Given the description of an element on the screen output the (x, y) to click on. 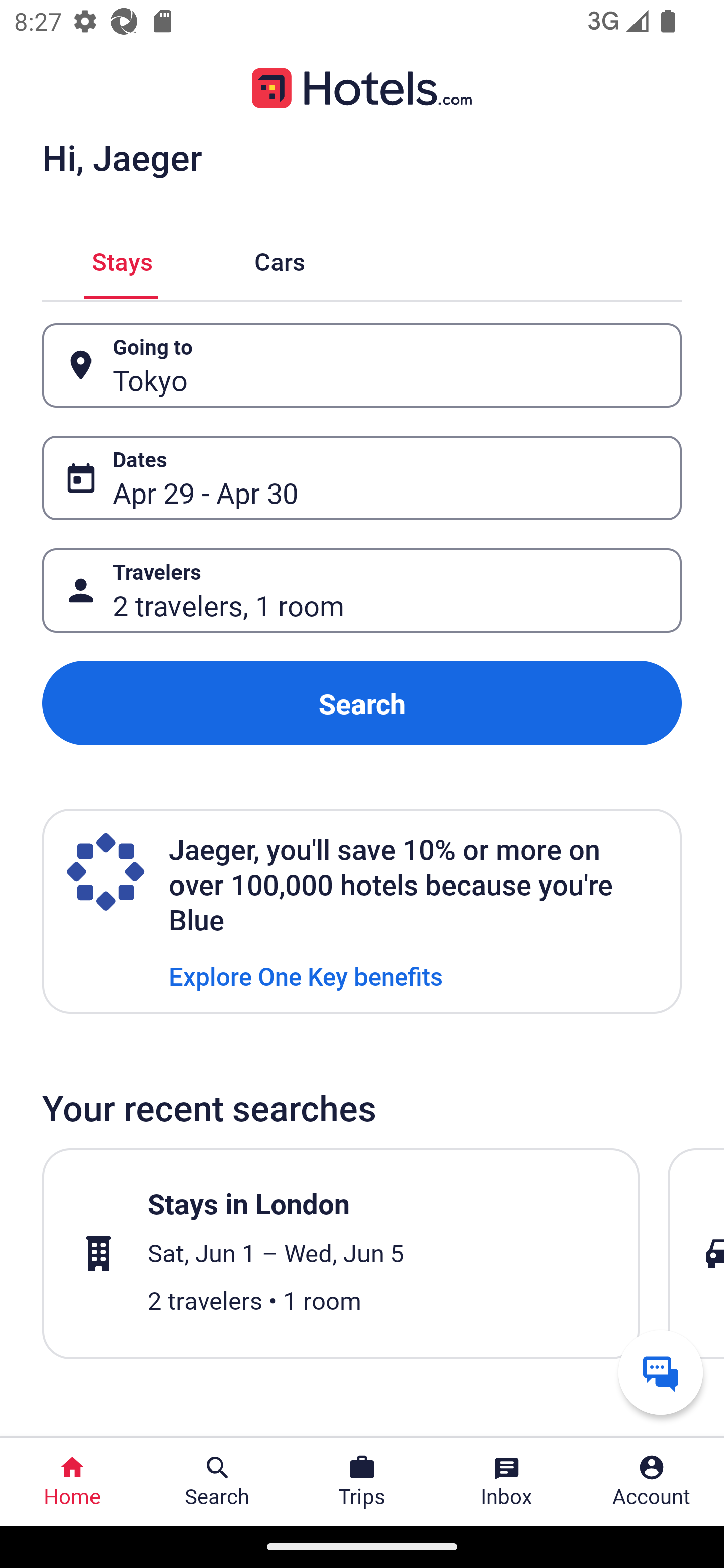
Hi, Jaeger (121, 156)
Cars (279, 259)
Going to Button Tokyo (361, 365)
Dates Button Apr 29 - Apr 30 (361, 477)
Travelers Button 2 travelers, 1 room (361, 590)
Search (361, 702)
Get help from a virtual agent (660, 1371)
Search Search Button (216, 1481)
Trips Trips Button (361, 1481)
Inbox Inbox Button (506, 1481)
Account Profile. Button (651, 1481)
